Given the description of an element on the screen output the (x, y) to click on. 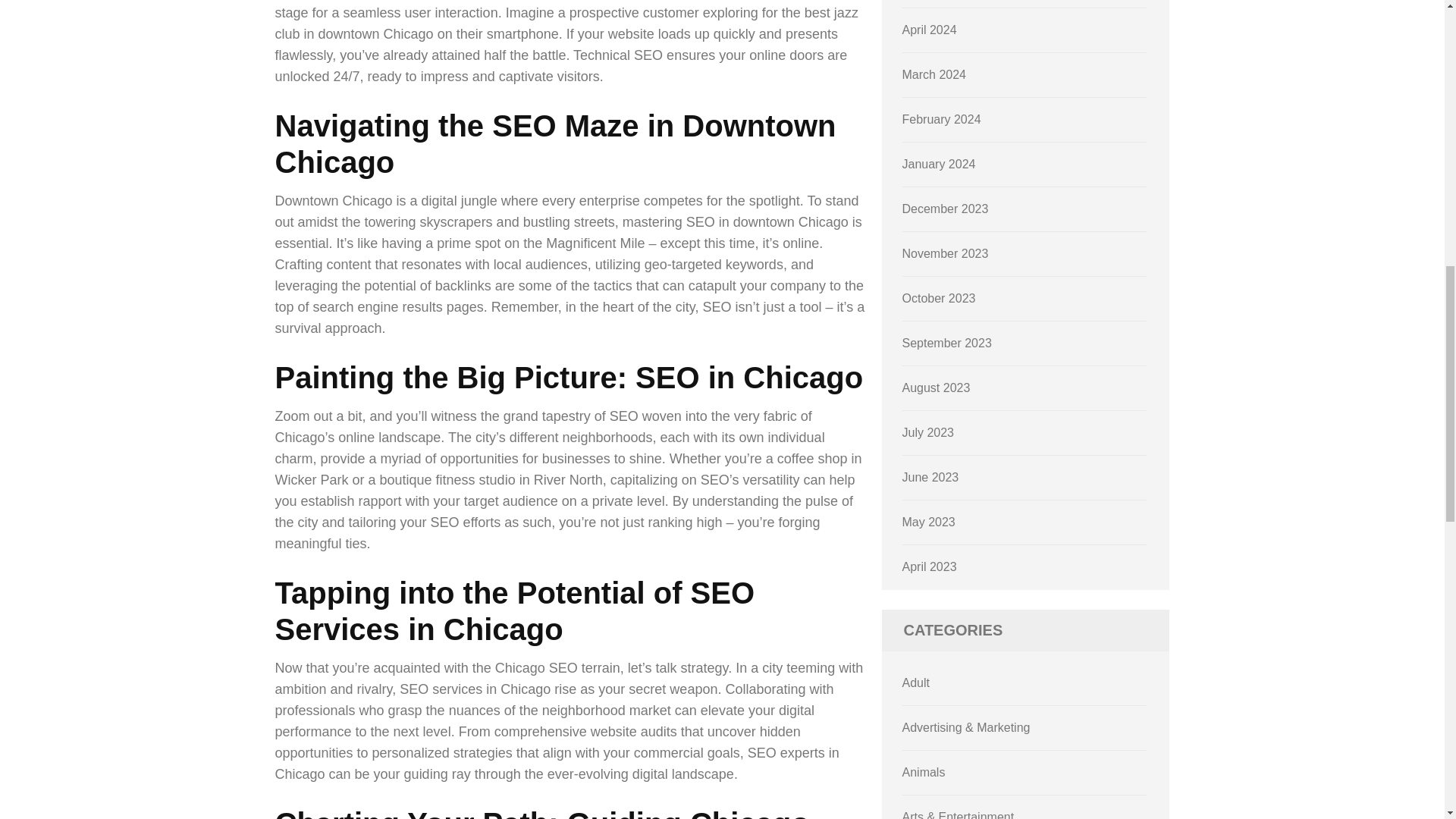
May 2023 (928, 521)
August 2023 (936, 387)
April 2023 (929, 566)
September 2023 (946, 342)
Adult (916, 682)
July 2023 (928, 431)
April 2024 (929, 29)
February 2024 (941, 119)
March 2024 (934, 74)
January 2024 (938, 164)
October 2023 (938, 297)
December 2023 (945, 208)
June 2023 (930, 477)
November 2023 (945, 253)
